Given the description of an element on the screen output the (x, y) to click on. 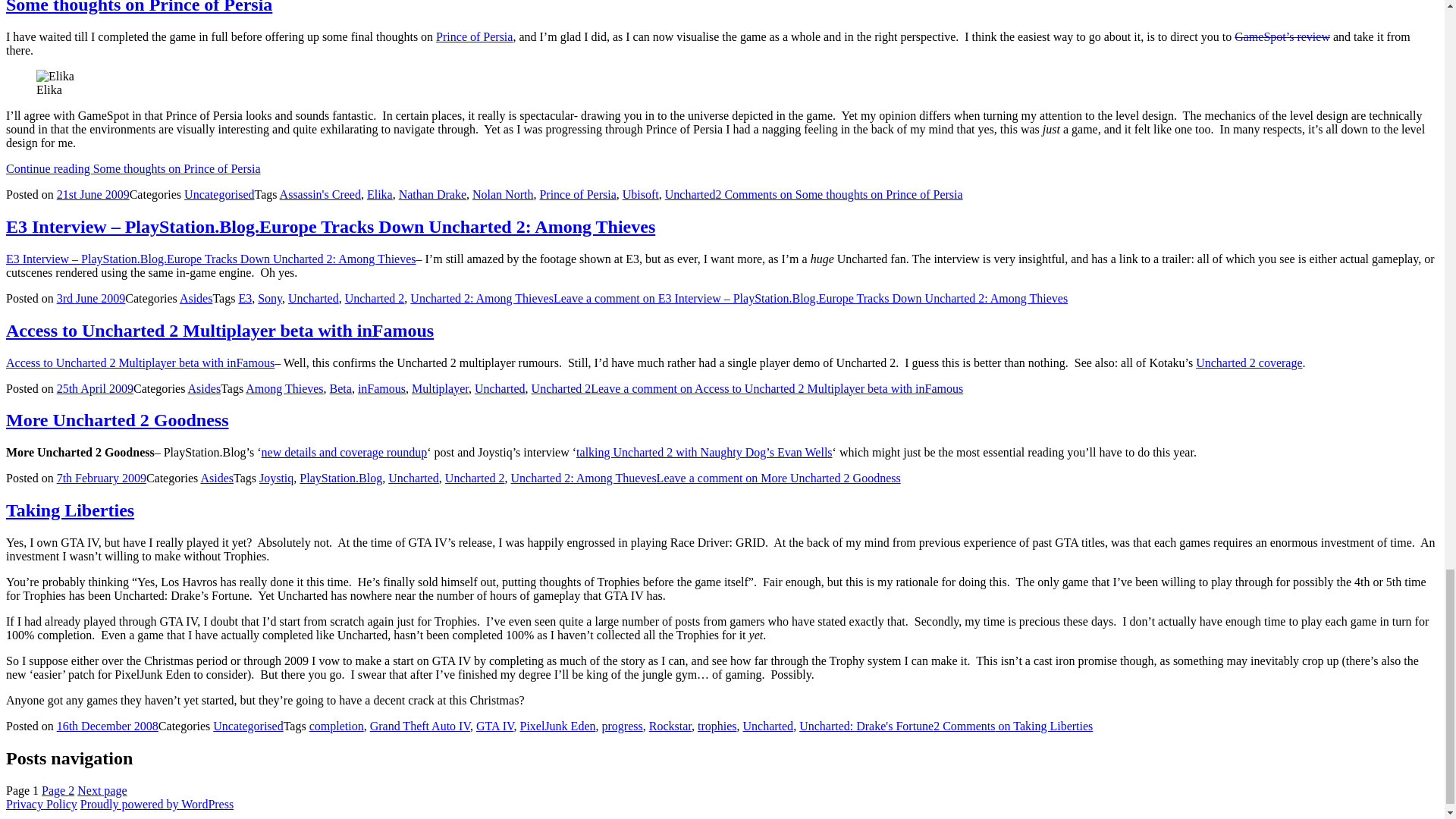
Elika (55, 76)
